Given the description of an element on the screen output the (x, y) to click on. 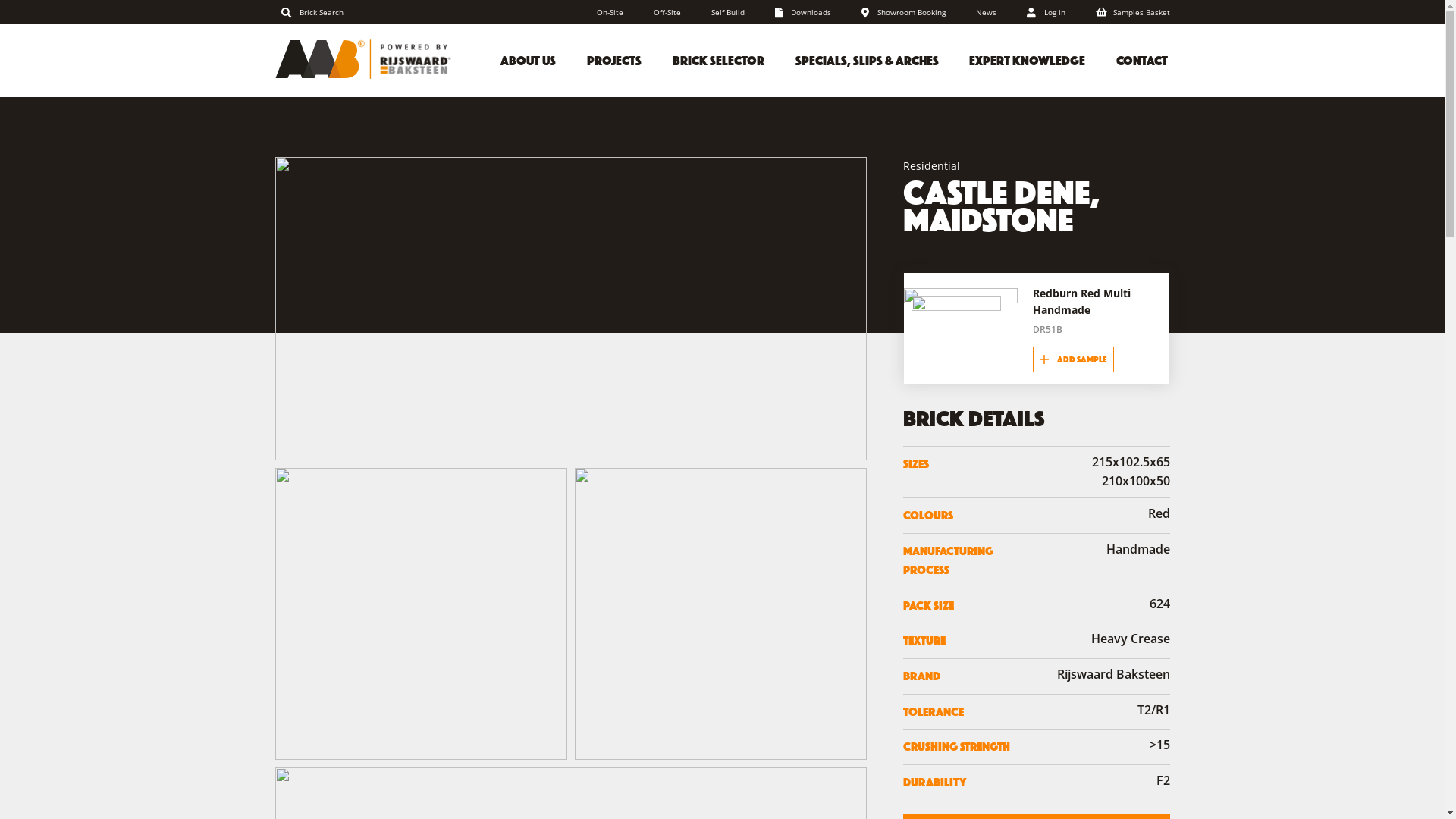
News Element type: text (985, 12)
Self Build Element type: text (727, 12)
Log in Element type: text (1045, 12)
Downloads Element type: text (803, 12)
Specials, Slips & Arches Element type: text (866, 59)
Showroom Booking Element type: text (903, 12)
Brick Selector Element type: text (717, 59)
About Us Element type: text (528, 59)
Expert Knowledge Element type: text (1027, 59)
Projects Element type: text (614, 59)
Contact Element type: text (1142, 59)
Off-Site Element type: text (666, 12)
Samples Basket Element type: text (1132, 12)
Redburn Red Multi Handmade Element type: text (1081, 300)
On-Site Element type: text (609, 12)
